Given the description of an element on the screen output the (x, y) to click on. 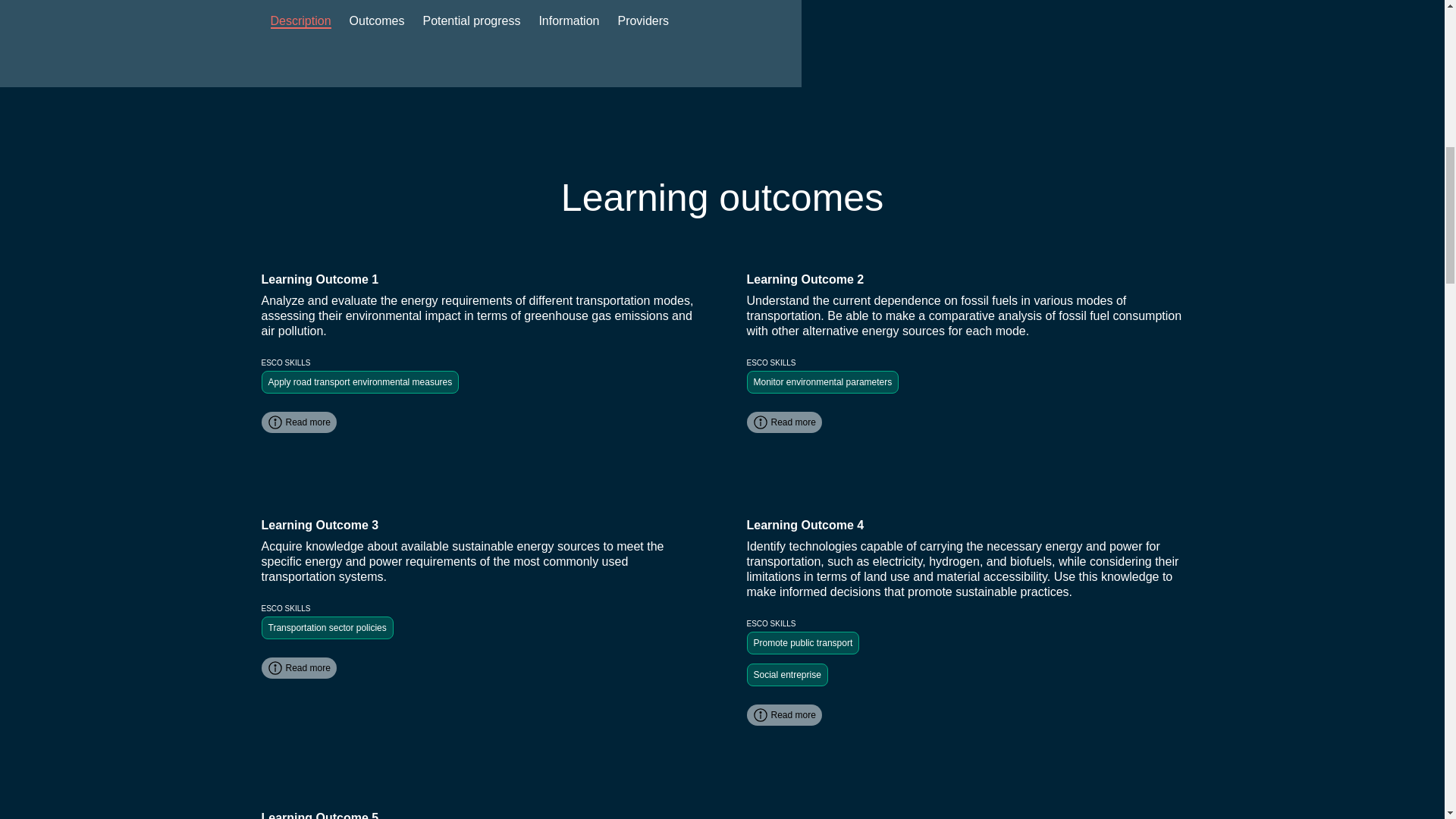
Read more (783, 422)
Apply road transport environmental measures (359, 382)
Social entreprise (786, 674)
Read more (298, 422)
Read more (298, 667)
Monitor environmental parameters (821, 382)
Read more (783, 714)
Promote public transport (802, 642)
Transportation sector policies (326, 627)
